Given the description of an element on the screen output the (x, y) to click on. 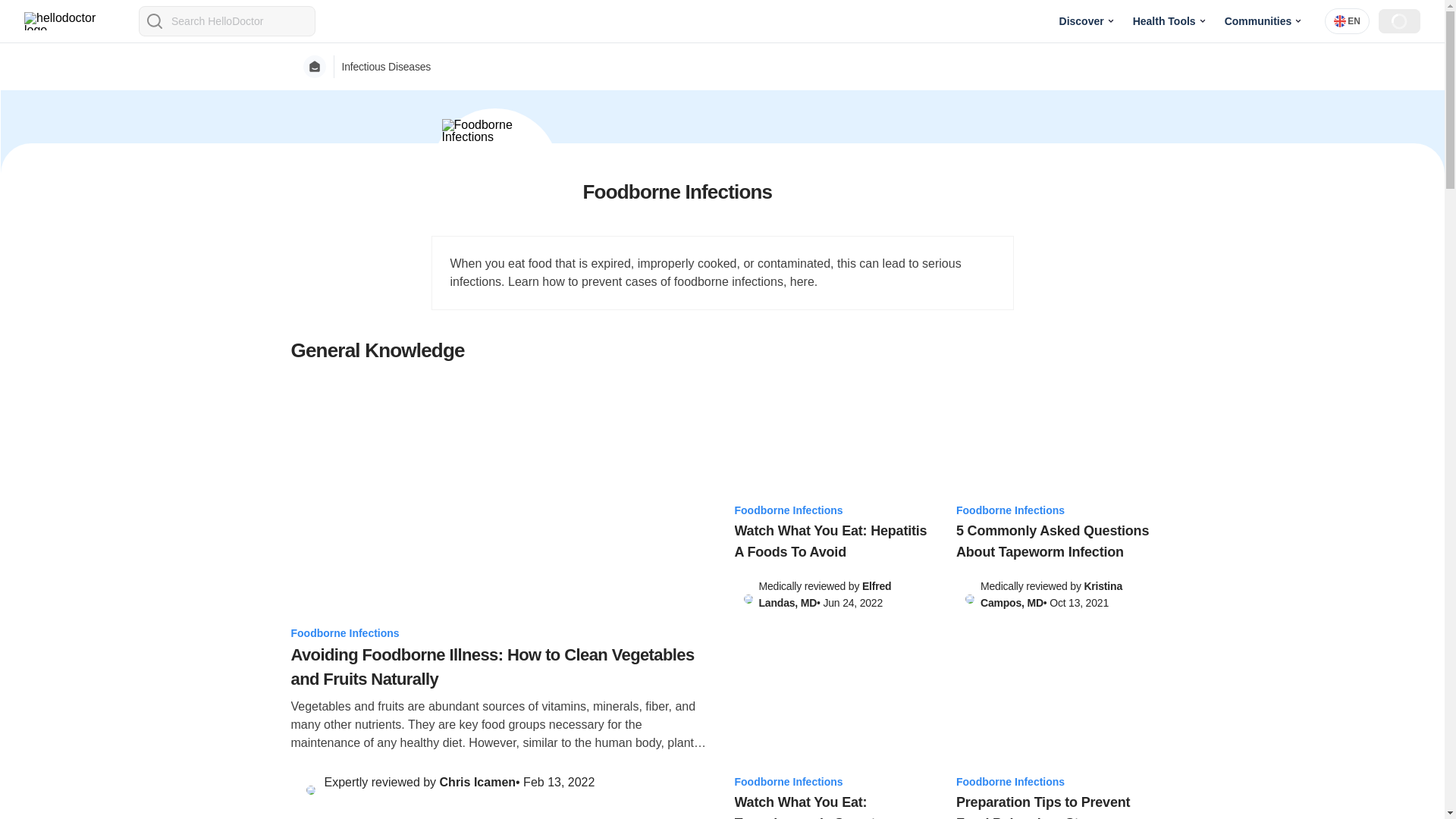
Infectious Diseases (385, 66)
EN (1347, 21)
Foodborne Infections (500, 632)
